Given the description of an element on the screen output the (x, y) to click on. 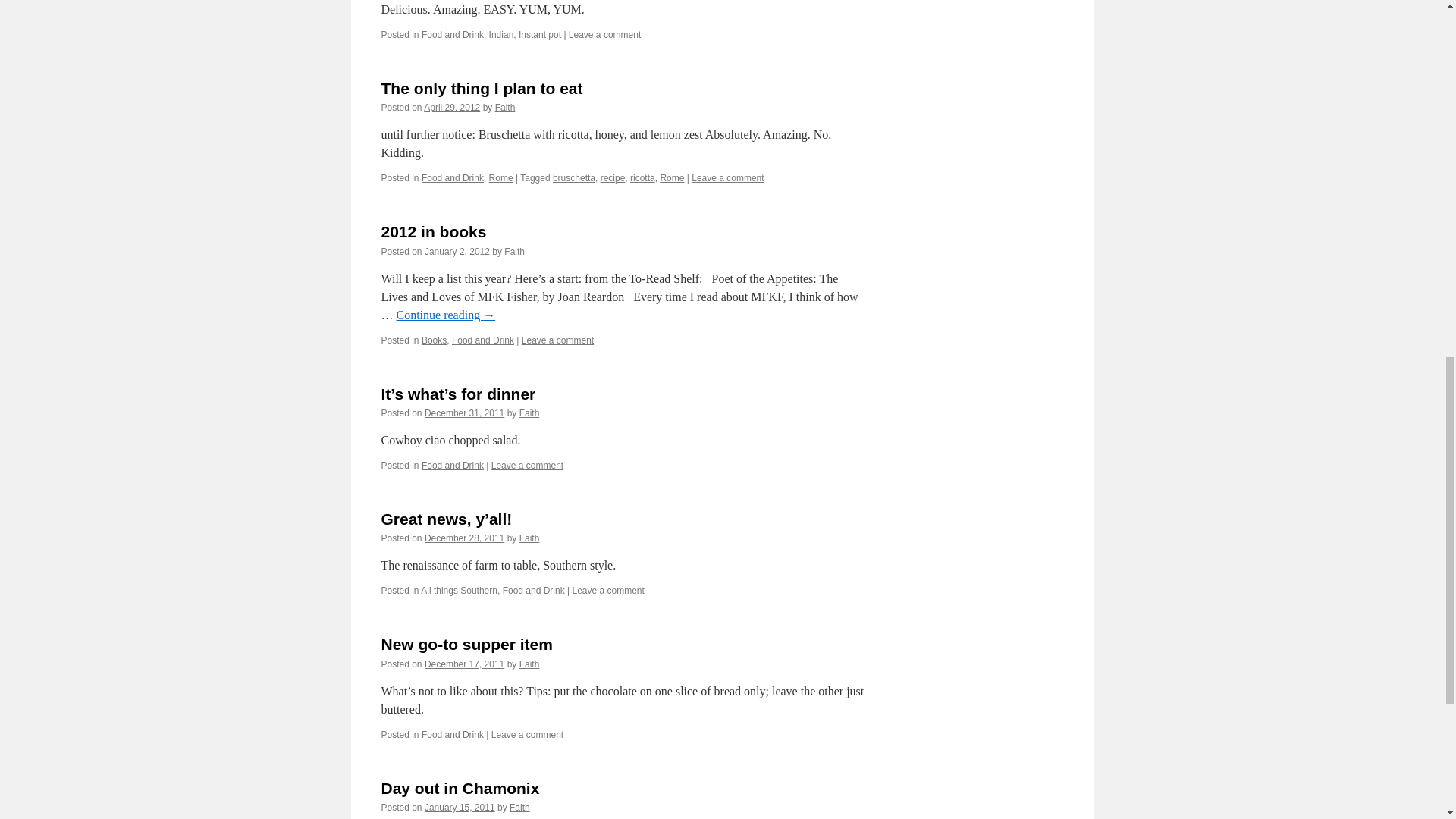
12:49 am (464, 412)
12:39 pm (451, 107)
View all posts by Faith (513, 251)
9:53 pm (457, 251)
View all posts by Faith (505, 107)
